Given the description of an element on the screen output the (x, y) to click on. 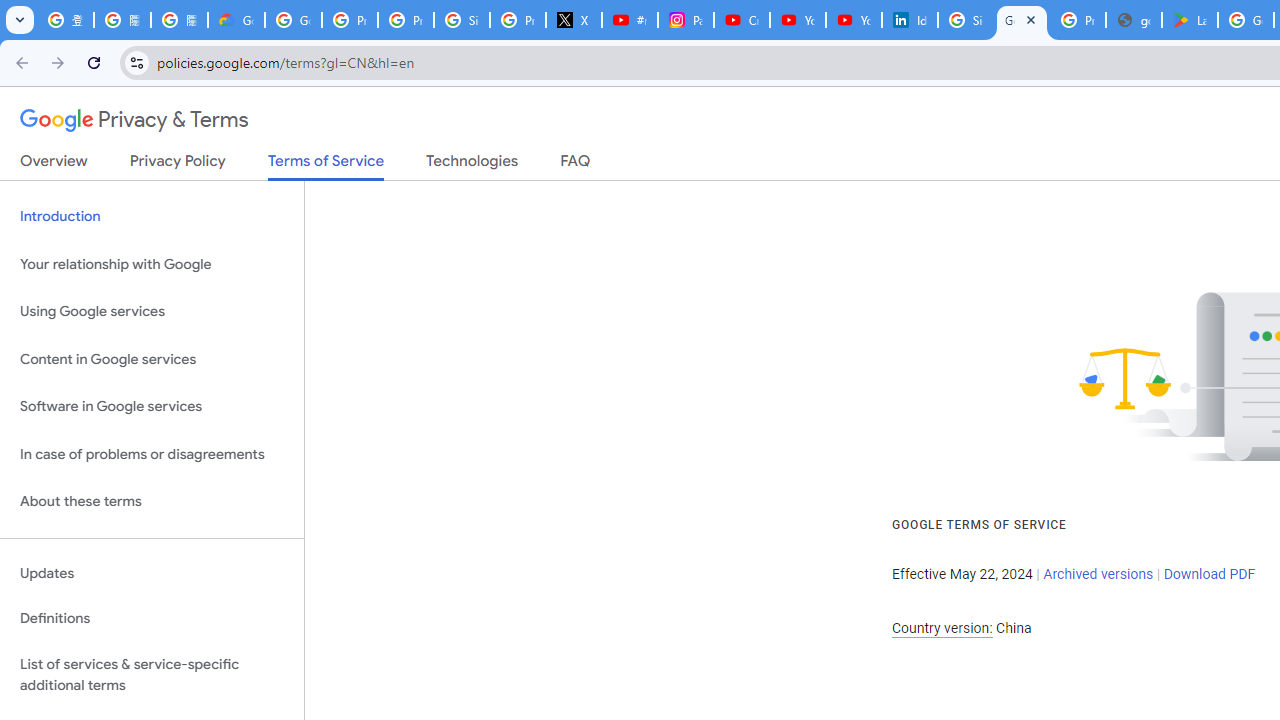
X (573, 20)
YouTube Culture & Trends - YouTube Top 10, 2021 (853, 20)
#nbabasketballhighlights - YouTube (629, 20)
Your relationship with Google (152, 263)
Last Shelter: Survival - Apps on Google Play (1190, 20)
Using Google services (152, 312)
